Given the description of an element on the screen output the (x, y) to click on. 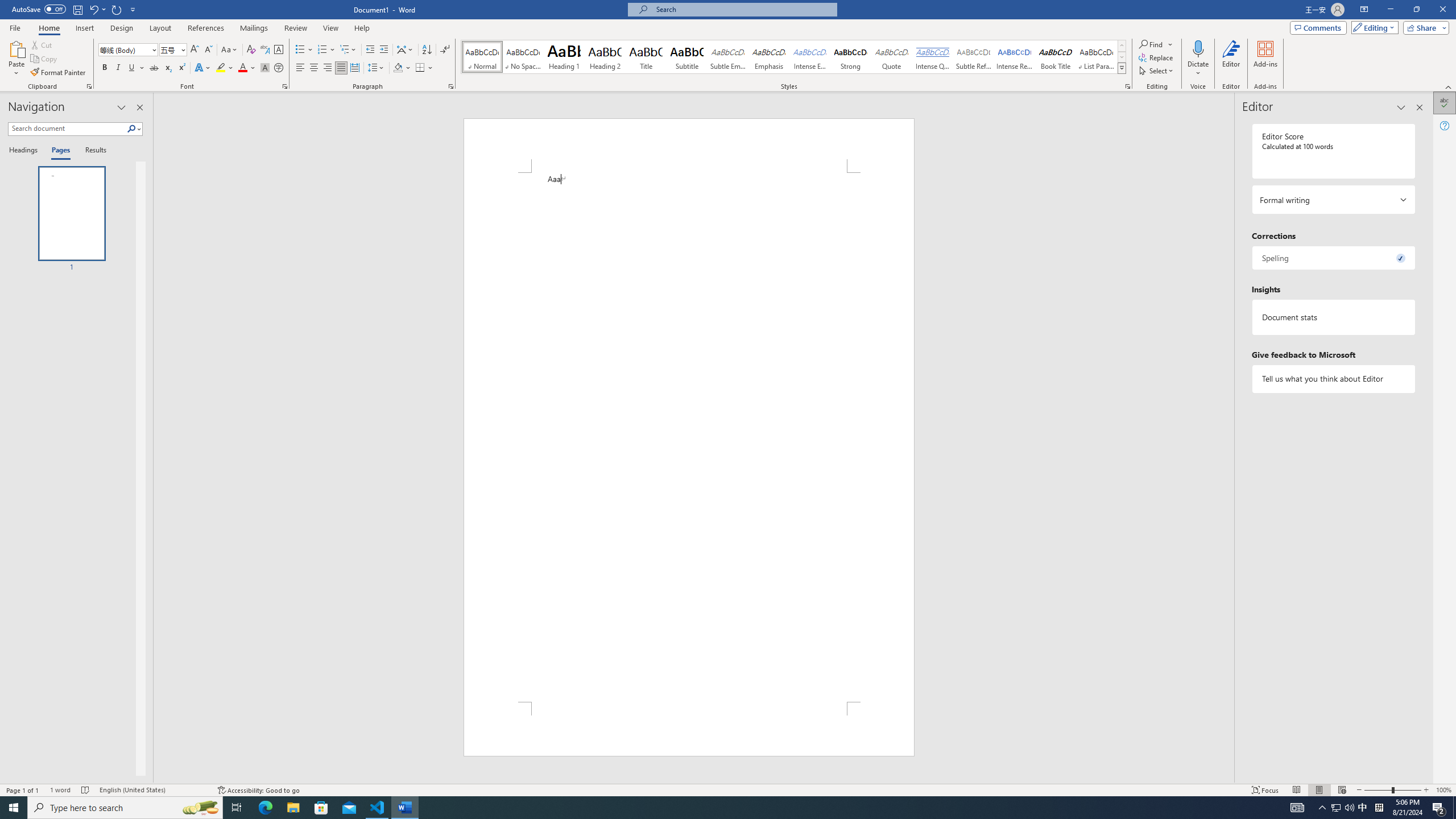
Row Down (1121, 56)
Undo Increase Indent (92, 9)
Mailings (253, 28)
Borders (419, 67)
Heading 2 (605, 56)
Comments (1318, 27)
System (6, 6)
Subscript (167, 67)
Results (91, 150)
Row up (1121, 45)
Editor (1231, 58)
Replace... (1156, 56)
Font Color Red (241, 67)
Design (122, 28)
Title (646, 56)
